Given the description of an element on the screen output the (x, y) to click on. 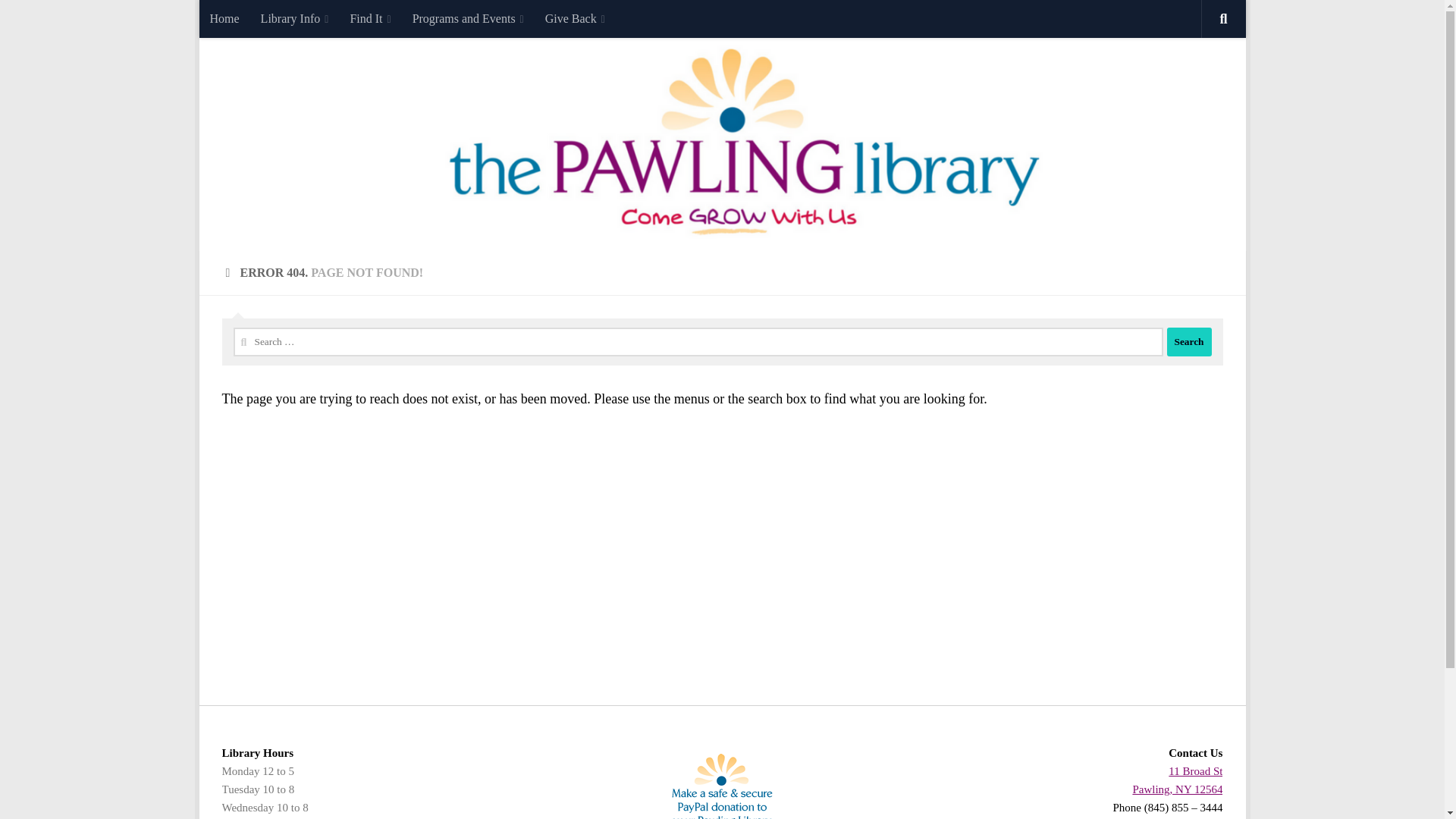
Skip to content (258, 20)
Search (1188, 341)
Search (1188, 341)
